Given the description of an element on the screen output the (x, y) to click on. 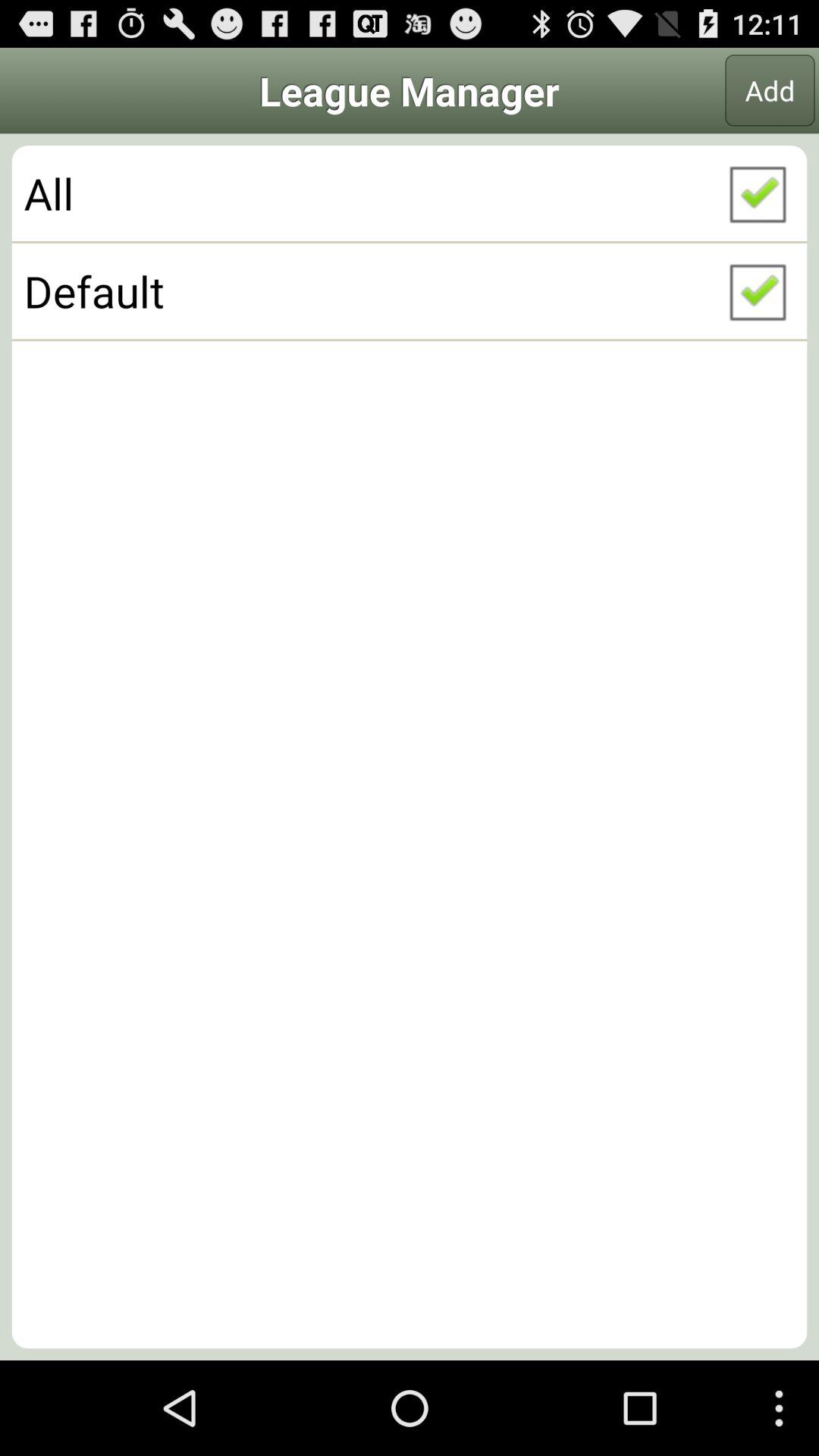
turn on the all icon (409, 193)
